Given the description of an element on the screen output the (x, y) to click on. 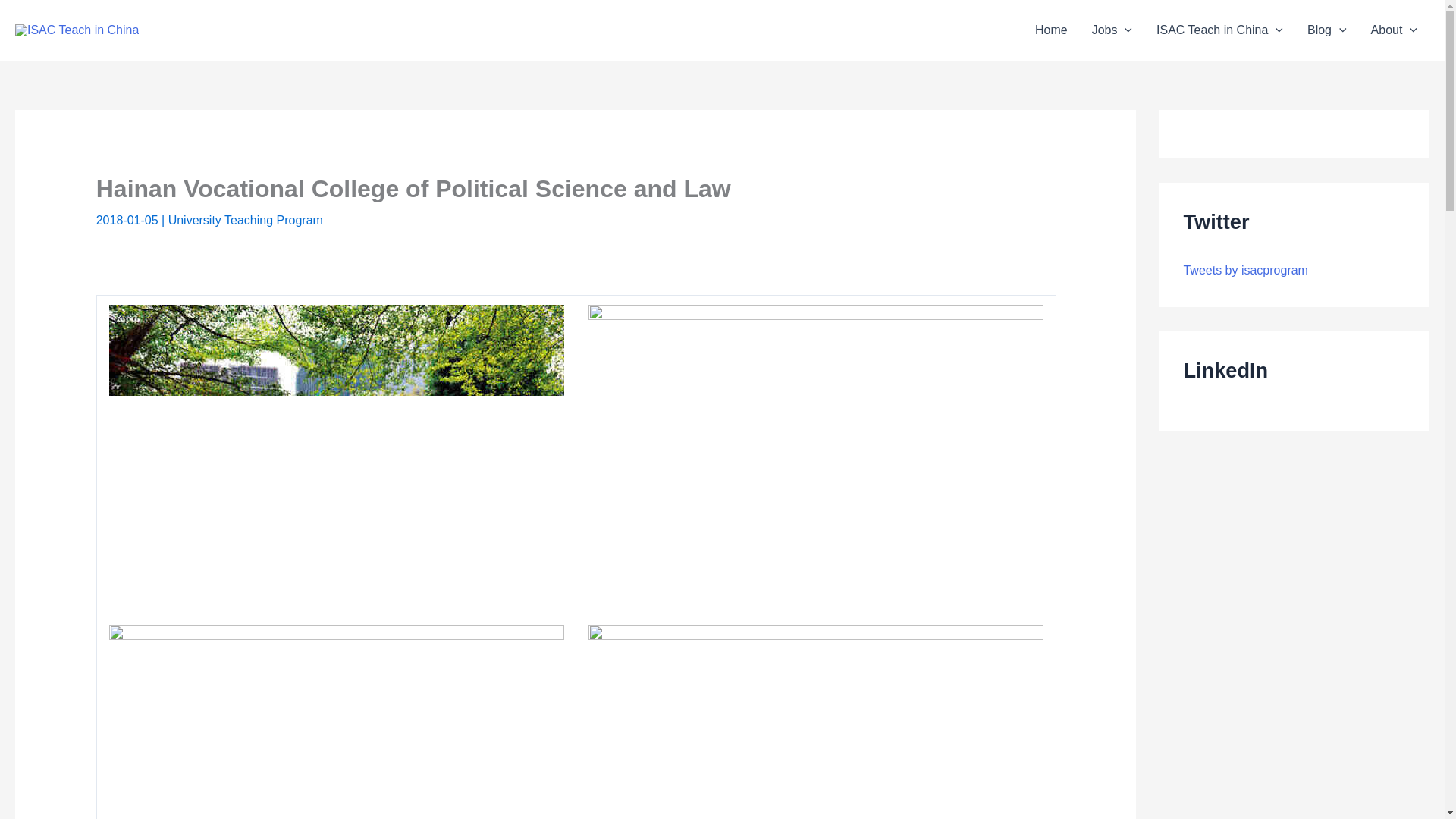
About (1393, 30)
Home (1051, 30)
ISAC Teach in China (1219, 30)
Blog (1326, 30)
Jobs (1112, 30)
